Given the description of an element on the screen output the (x, y) to click on. 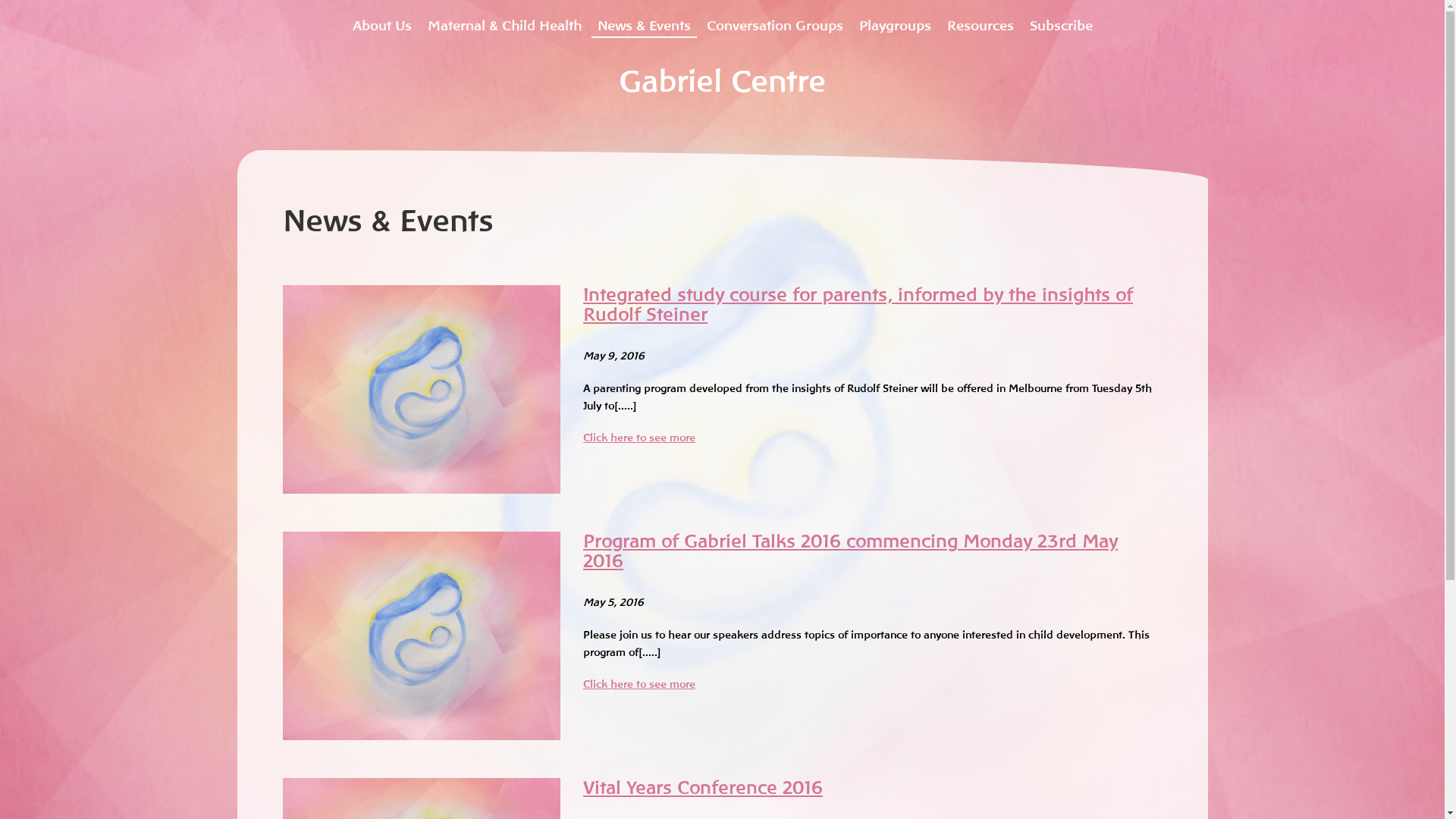
Playgroups Element type: text (894, 18)
Vital Years Conference 2016 Element type: text (702, 787)
Gabriel Centre Element type: text (721, 81)
About Us Element type: text (381, 18)
Maternal & Child Health Element type: text (504, 18)
Subscribe Element type: text (1060, 18)
Click here to see more Element type: text (639, 683)
Conversation Groups Element type: text (774, 18)
Resources Element type: text (979, 18)
News & Events Element type: text (643, 18)
Click here to see more Element type: text (639, 437)
